Given the description of an element on the screen output the (x, y) to click on. 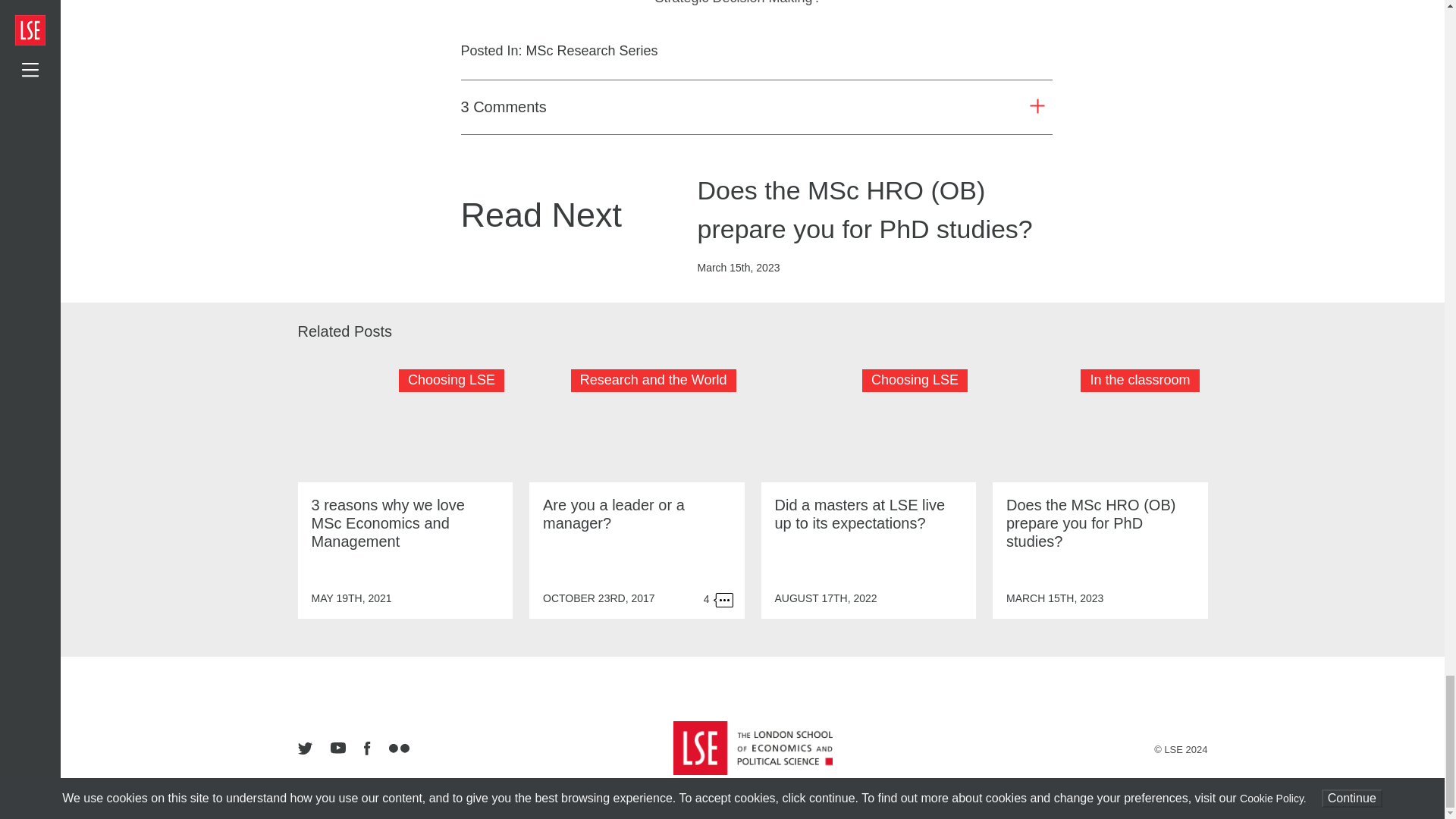
youtube (338, 748)
Post Comment (756, 612)
flickr (397, 749)
